Given the description of an element on the screen output the (x, y) to click on. 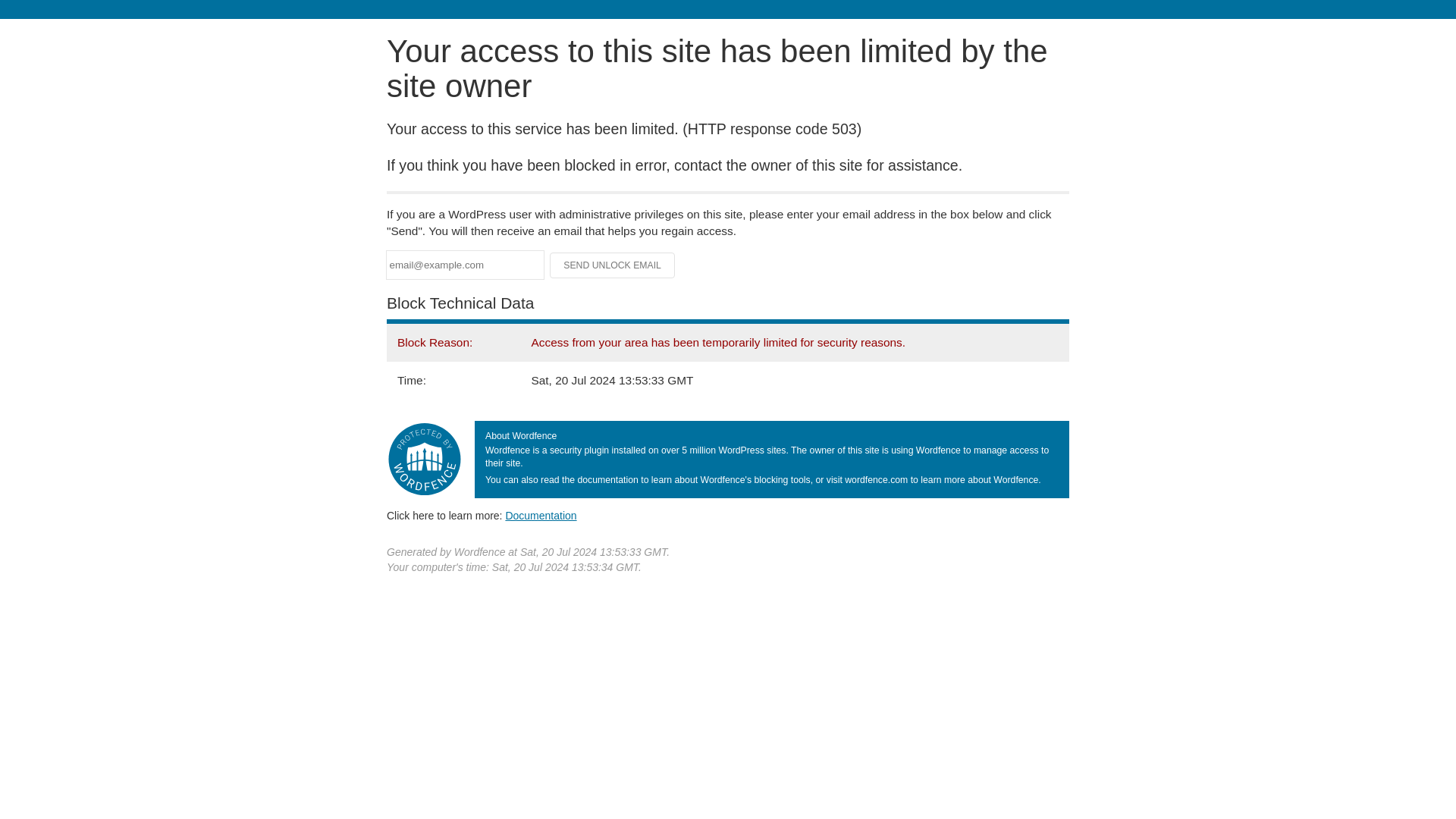
Documentation (540, 515)
Send Unlock Email (612, 265)
Send Unlock Email (612, 265)
